Given the description of an element on the screen output the (x, y) to click on. 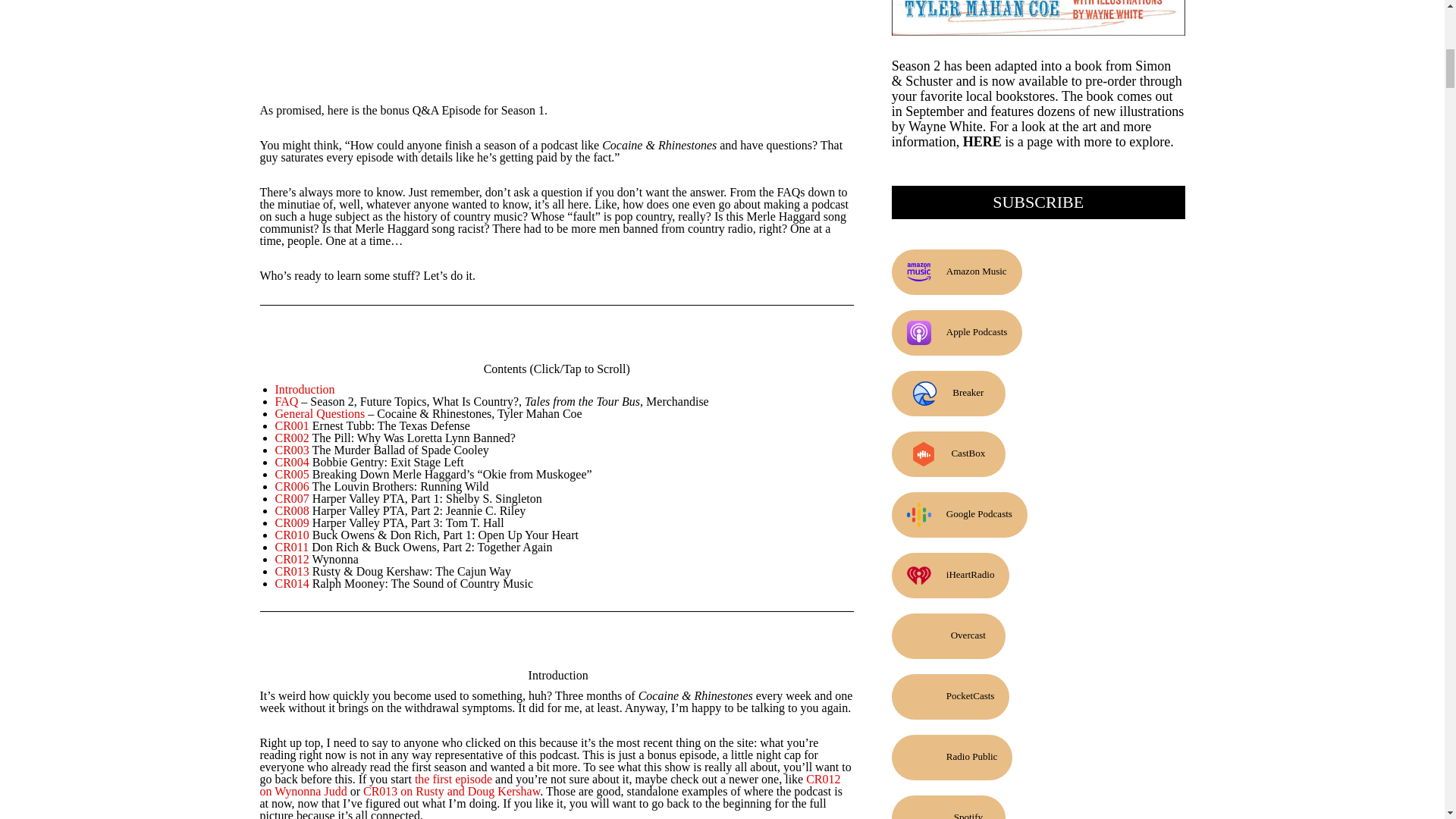
CR013 (291, 571)
CR013 on Rusty and Doug Kershaw (451, 790)
CR004 (291, 461)
CR012 on Wynonna Judd (549, 785)
CR012 (291, 558)
CR005 (291, 473)
the first episode (453, 779)
CR007 (291, 498)
CR001 (291, 425)
CR011 (291, 546)
CR002 (291, 437)
Introduction (304, 389)
CR010 (291, 534)
CR003 (291, 449)
CR008 (291, 510)
